Given the description of an element on the screen output the (x, y) to click on. 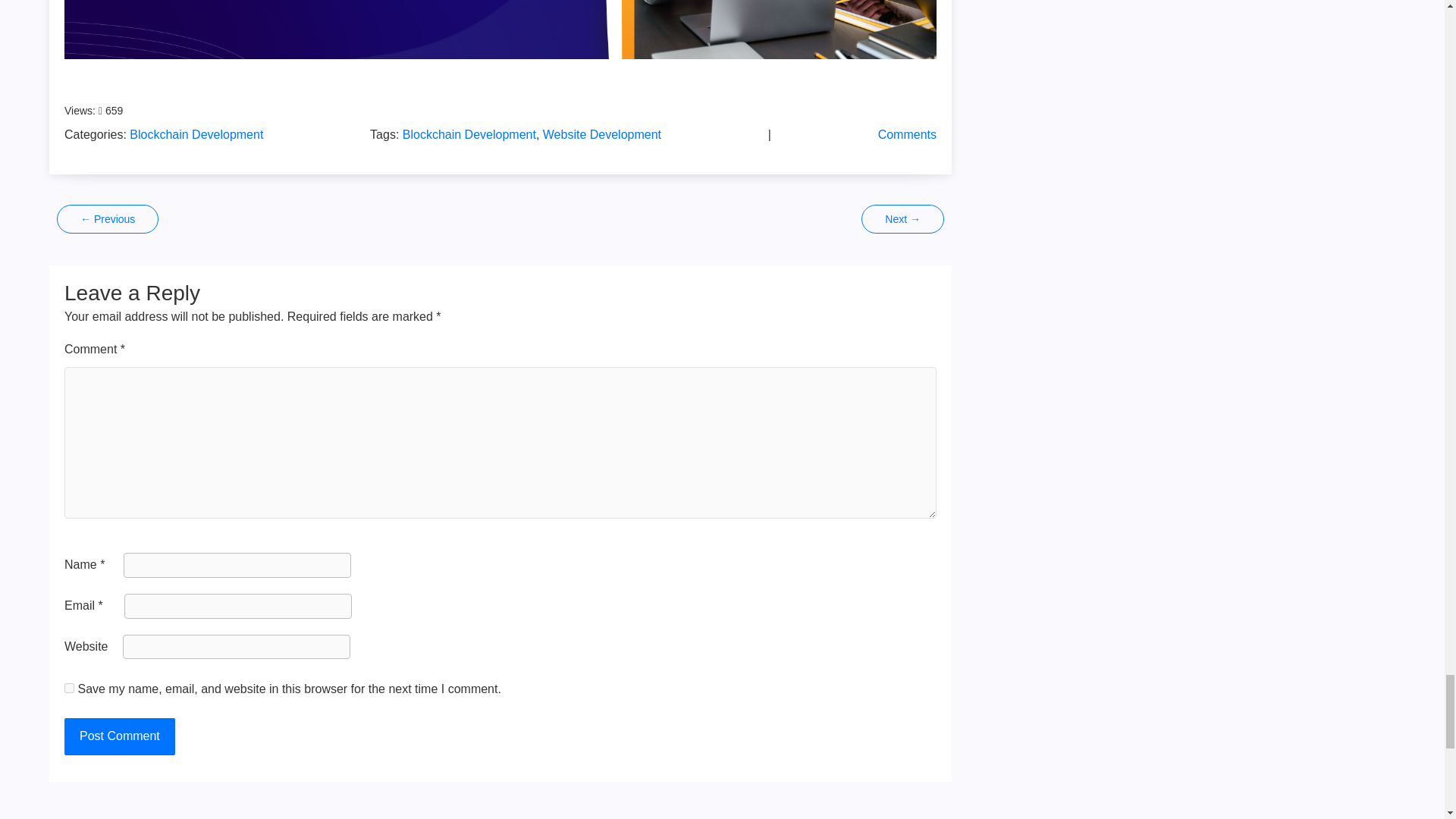
Blockchain Development (469, 133)
Website Development (602, 133)
yes (69, 687)
Blockchain Development (196, 133)
Comments (906, 133)
Post Comment (119, 736)
Post Comment (119, 736)
